Given the description of an element on the screen output the (x, y) to click on. 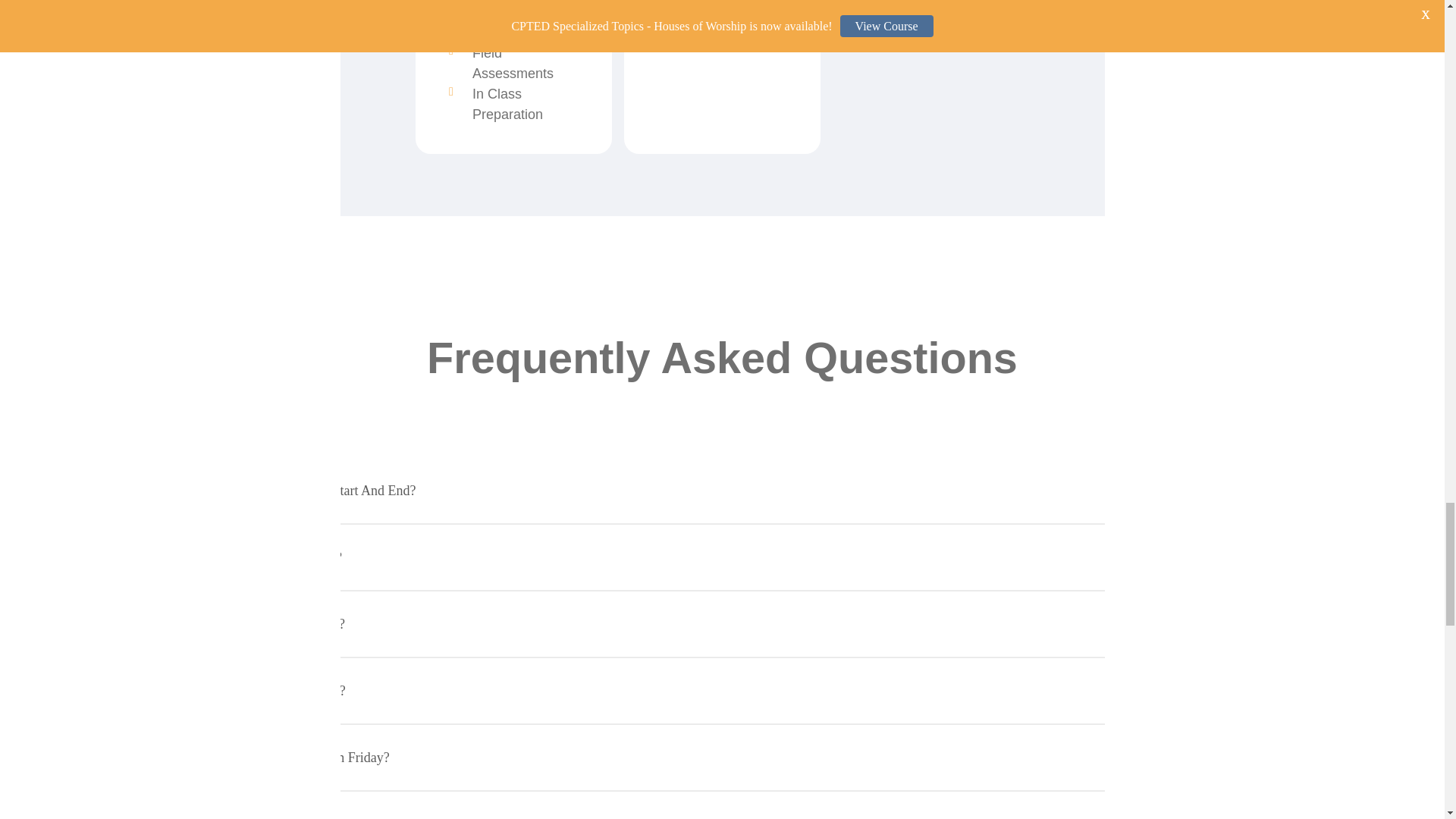
What Time Does It Start And End? (722, 490)
What Should I Bring? (722, 623)
What Should I Wear? (722, 556)
Where Should I Park? (722, 690)
Can I Leave Early On Friday? (722, 757)
Where Is The Course Located? (722, 805)
